Given the description of an element on the screen output the (x, y) to click on. 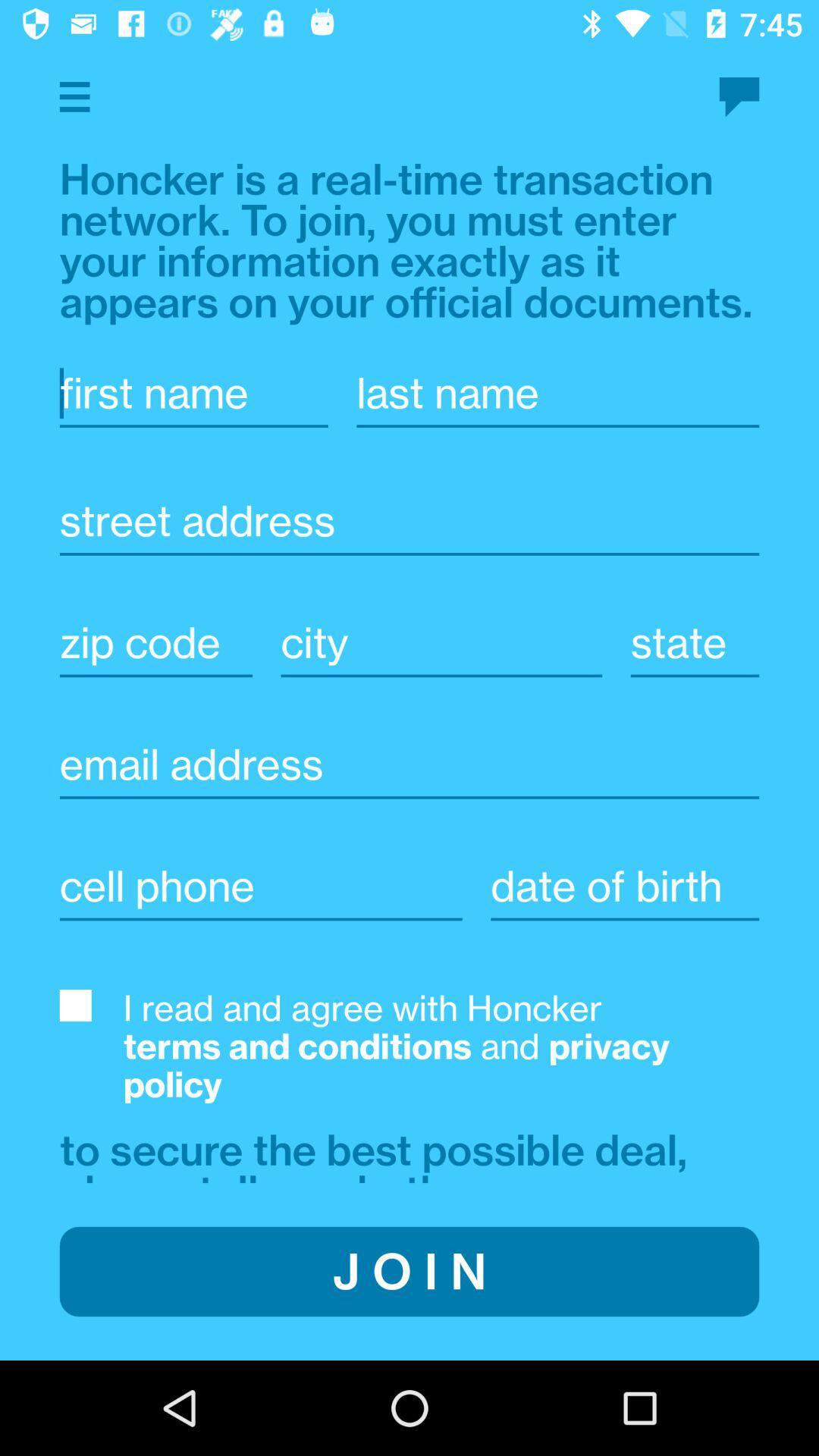
view menu (74, 96)
